Given the description of an element on the screen output the (x, y) to click on. 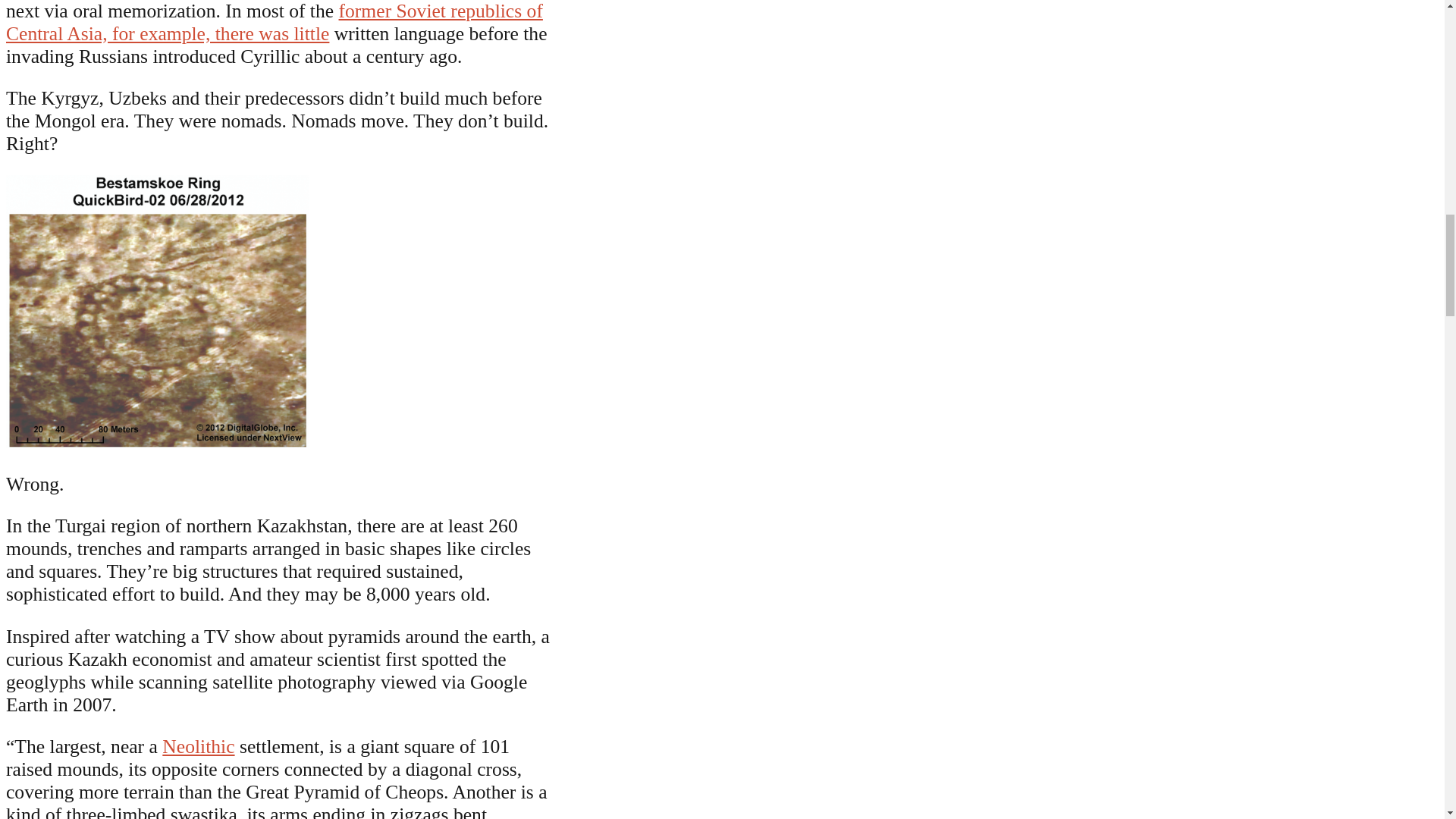
Neolithic (197, 746)
